Given the description of an element on the screen output the (x, y) to click on. 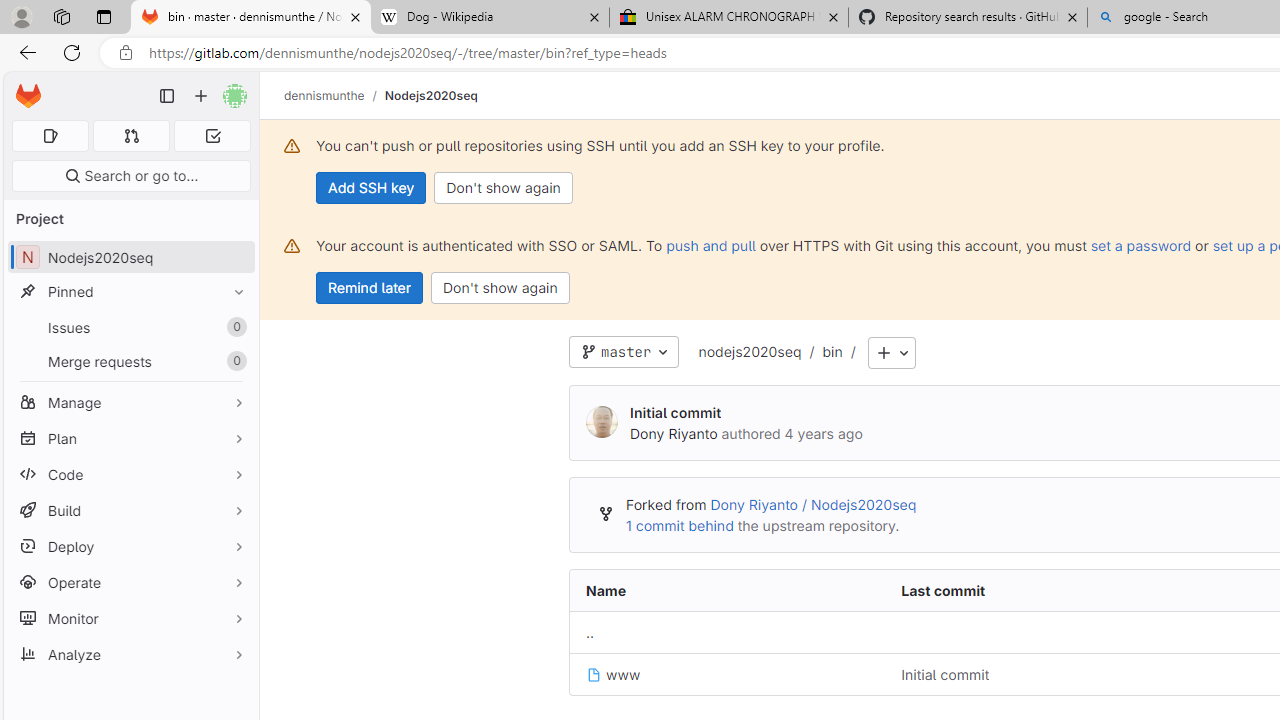
Dony Riyanto's avatar (602, 422)
N Nodejs2020seq (130, 257)
Merge requests 0 (130, 361)
Merge requests 0 (131, 136)
Unpin Issues (234, 327)
Operate (130, 582)
Dony Riyanto / Nodejs2020seq (813, 505)
Don't show again (500, 287)
master (624, 351)
Add to tree (891, 353)
nodejs2020seq (749, 351)
Nodejs2020seq (430, 95)
